Given the description of an element on the screen output the (x, y) to click on. 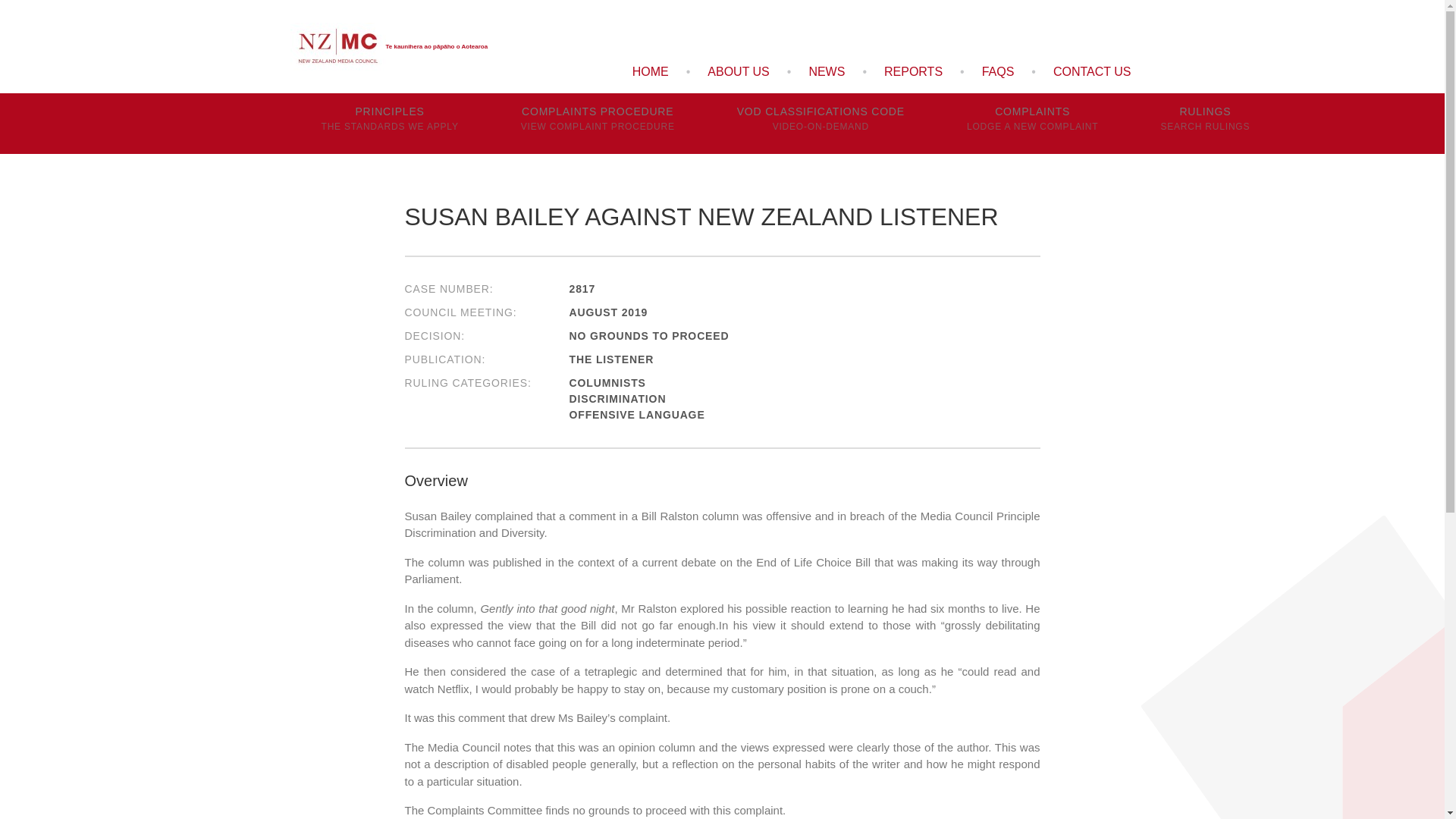
Frequently Asked Questions (998, 71)
About (737, 71)
CONTACT US (1092, 71)
REPORTS (912, 71)
HOME (650, 71)
back to homepage (1204, 123)
back to homepage (1032, 123)
